Given the description of an element on the screen output the (x, y) to click on. 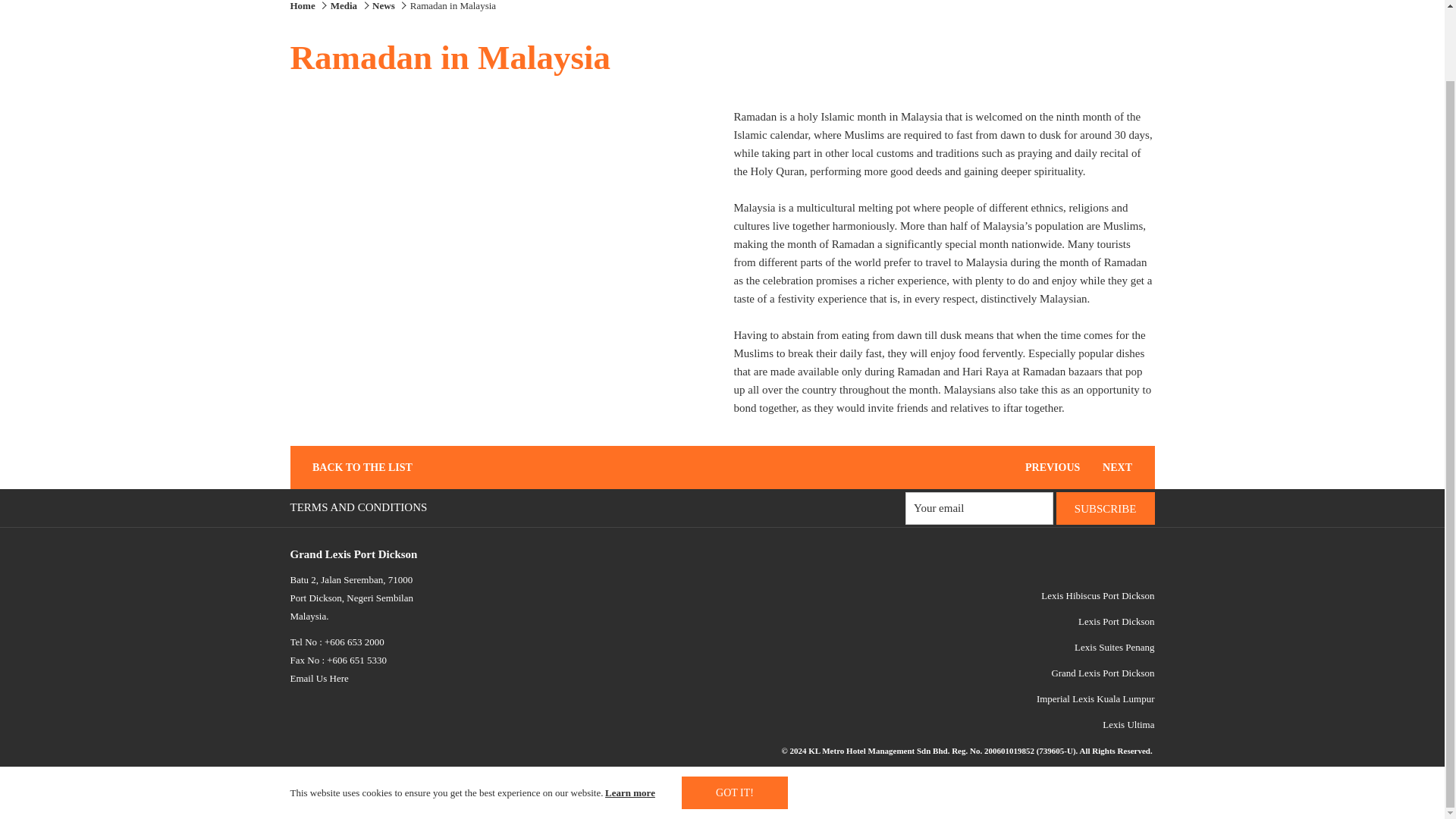
Learn more (631, 713)
Grand Lexis Port Dickson (1102, 672)
Lexis Hibiscus Port Dickson (1097, 595)
Lexis Ultima (1128, 724)
GOT IT! (734, 713)
Lexis Port Dickson (1116, 621)
TERMS AND CONDITIONS (359, 507)
PREVIOUS (1046, 467)
Lexis Suites Penang (1114, 646)
NEXT (1123, 467)
Ramadan in Malaysia (453, 5)
PORT DICKSON WEATHER (781, 776)
News (384, 5)
Media (343, 5)
Imperial Lexis Kuala Lumpur (1095, 698)
